Given the description of an element on the screen output the (x, y) to click on. 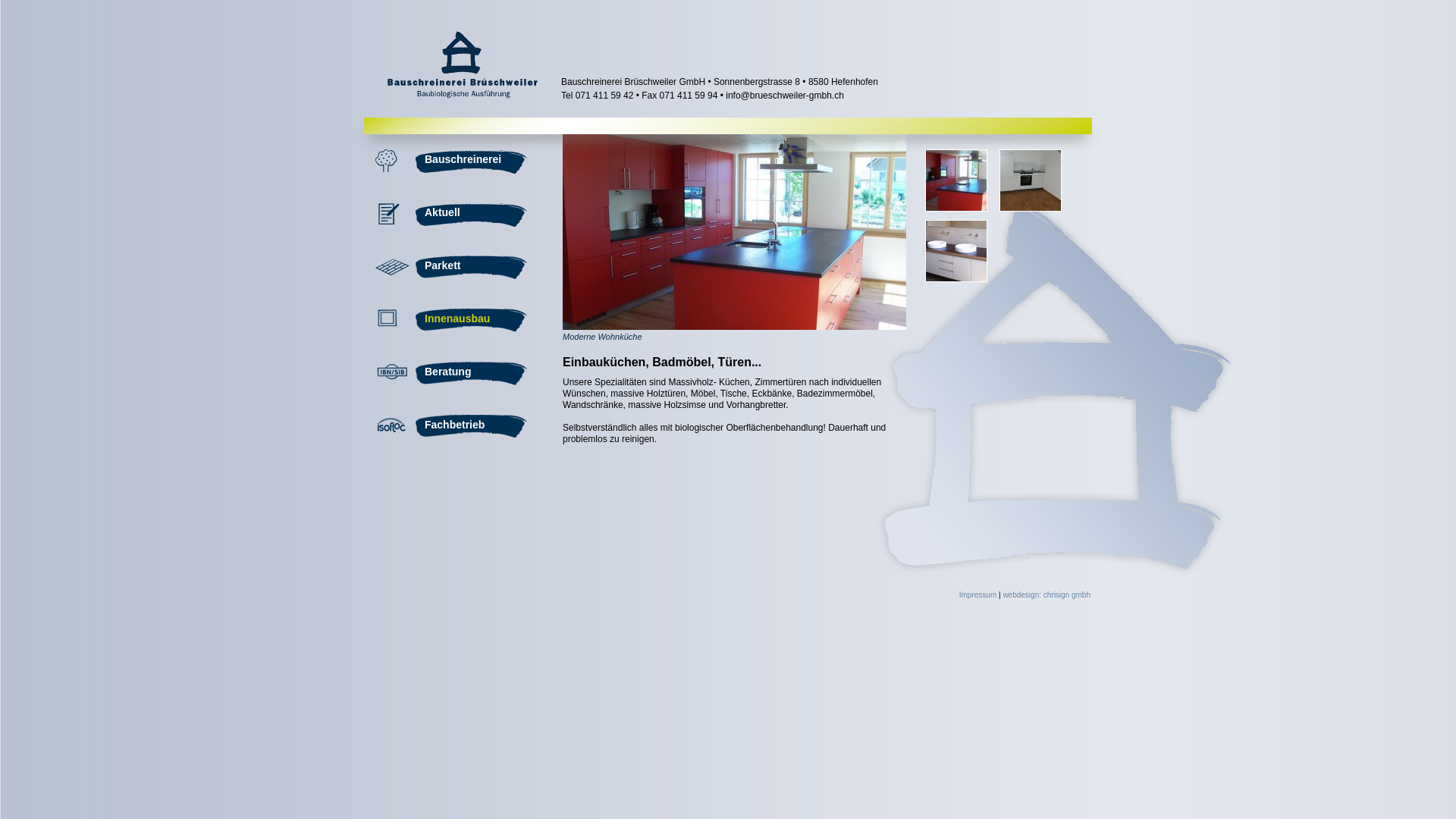
Fachbetrieb Element type: text (461, 426)
Aktuell Element type: text (461, 214)
Bauschreinerei Element type: text (461, 161)
Innenausbau Element type: text (461, 320)
webdesign: chrisign gmbh Element type: text (1046, 594)
Impressum Element type: text (977, 594)
info@brueschweiler-gmbh.ch Element type: text (784, 95)
Beratung Element type: text (461, 373)
Parkett Element type: text (461, 267)
